Given the description of an element on the screen output the (x, y) to click on. 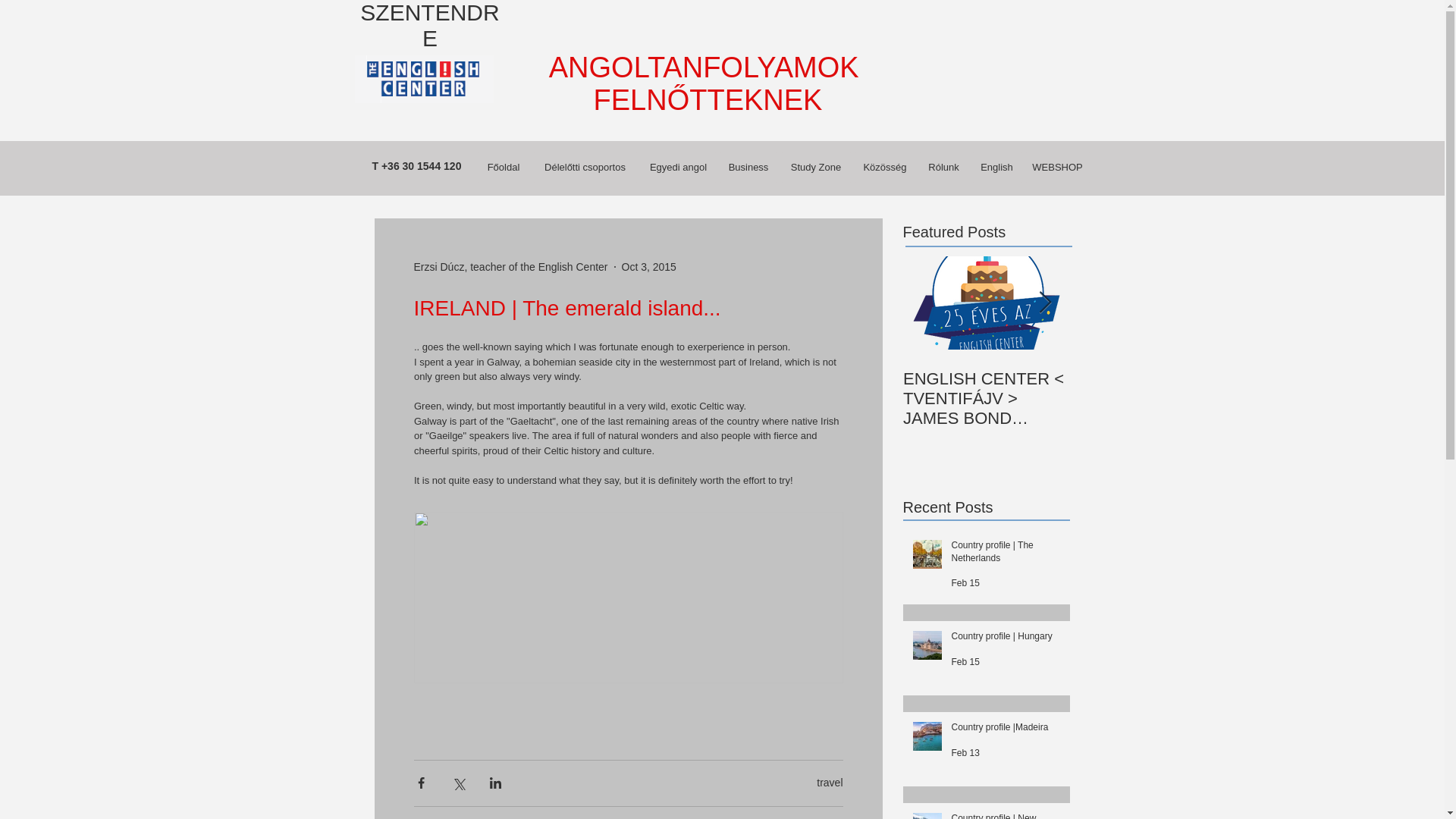
Feb 15 (964, 583)
Feb 13 (964, 752)
Oct 3, 2015 (649, 266)
Egyedi angol (678, 167)
Study Zone (815, 167)
Feb 15 (964, 661)
Business (748, 167)
